Given the description of an element on the screen output the (x, y) to click on. 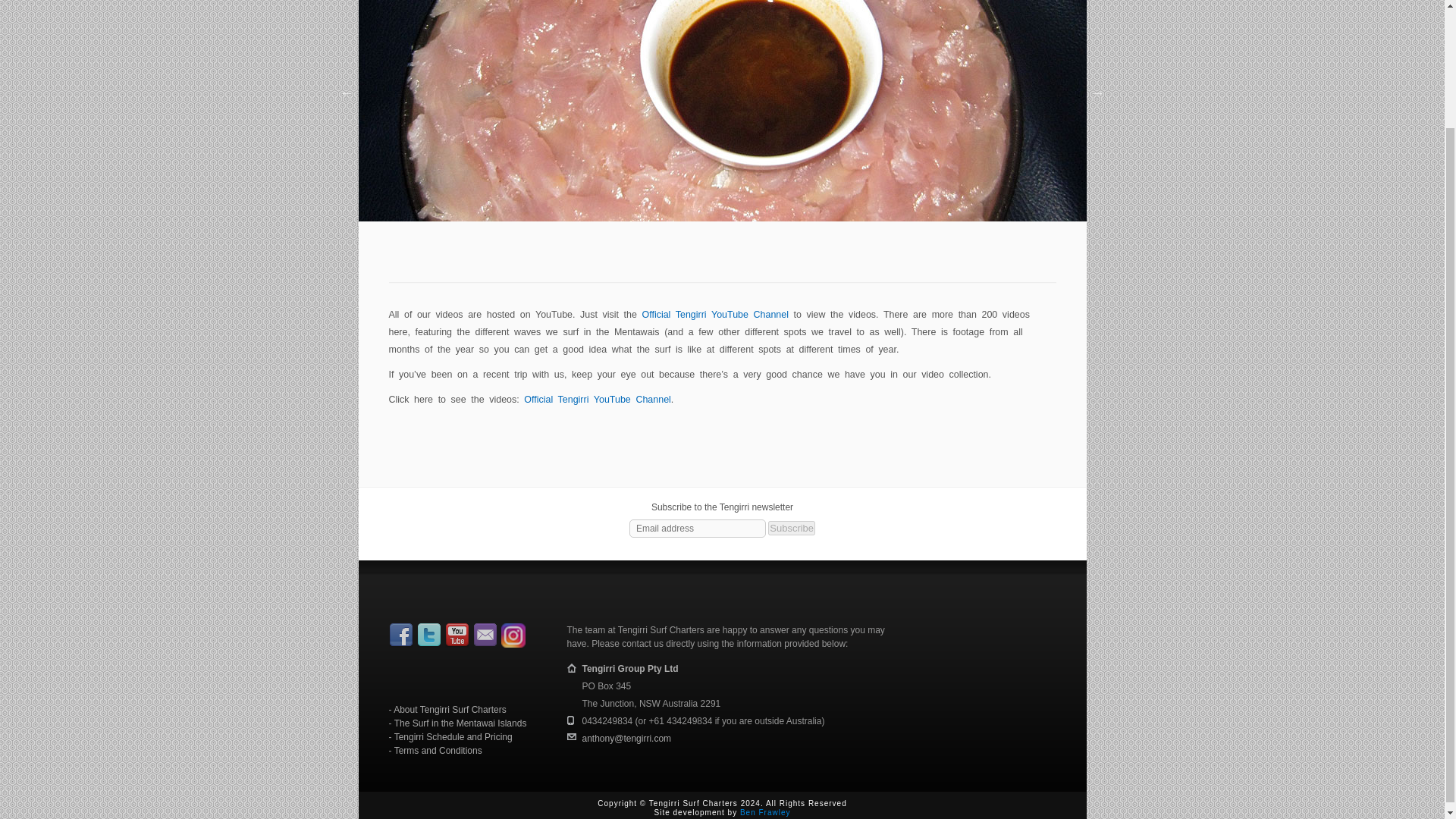
Subscribe (791, 527)
